Given the description of an element on the screen output the (x, y) to click on. 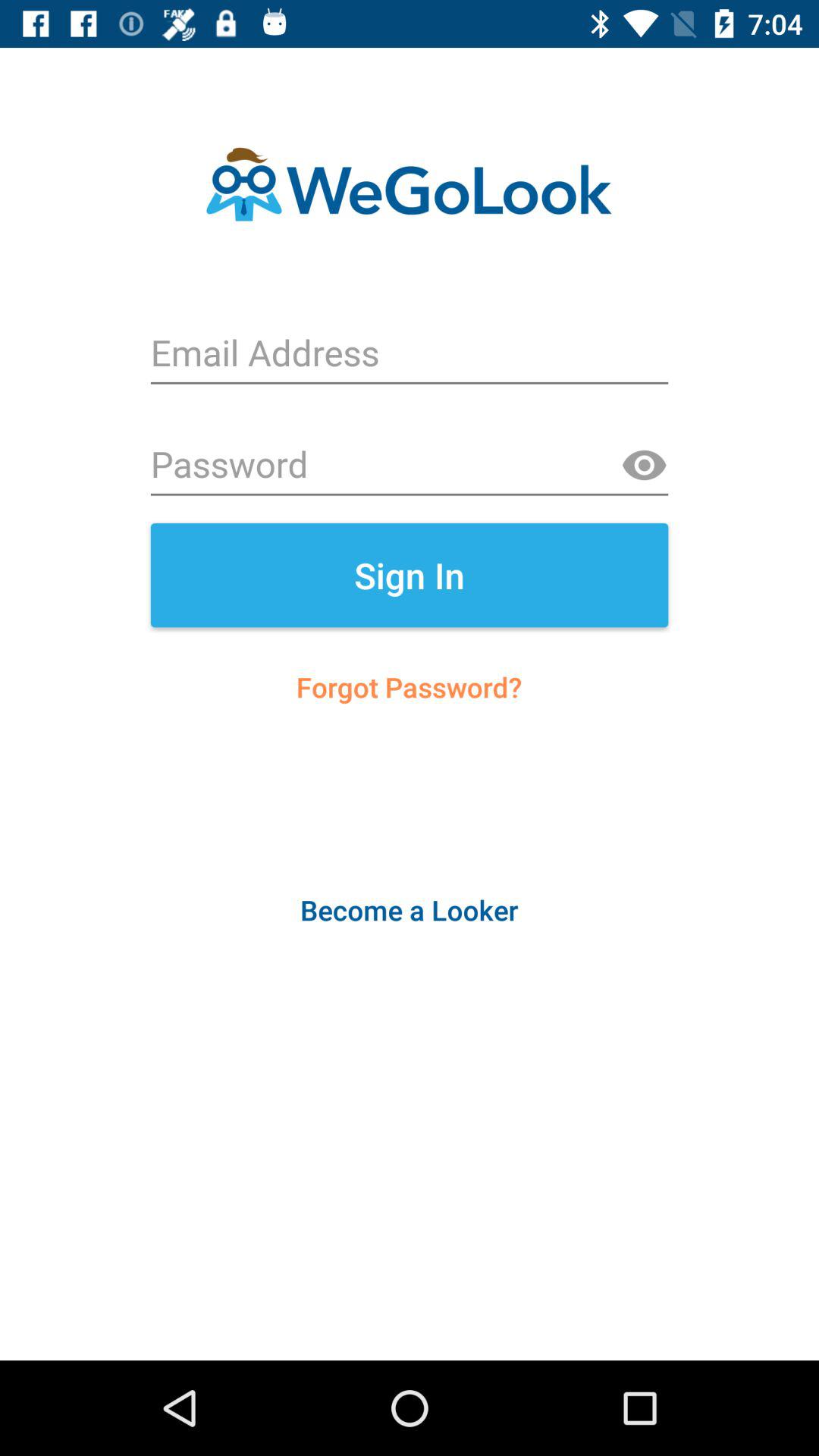
enter email address (409, 354)
